Given the description of an element on the screen output the (x, y) to click on. 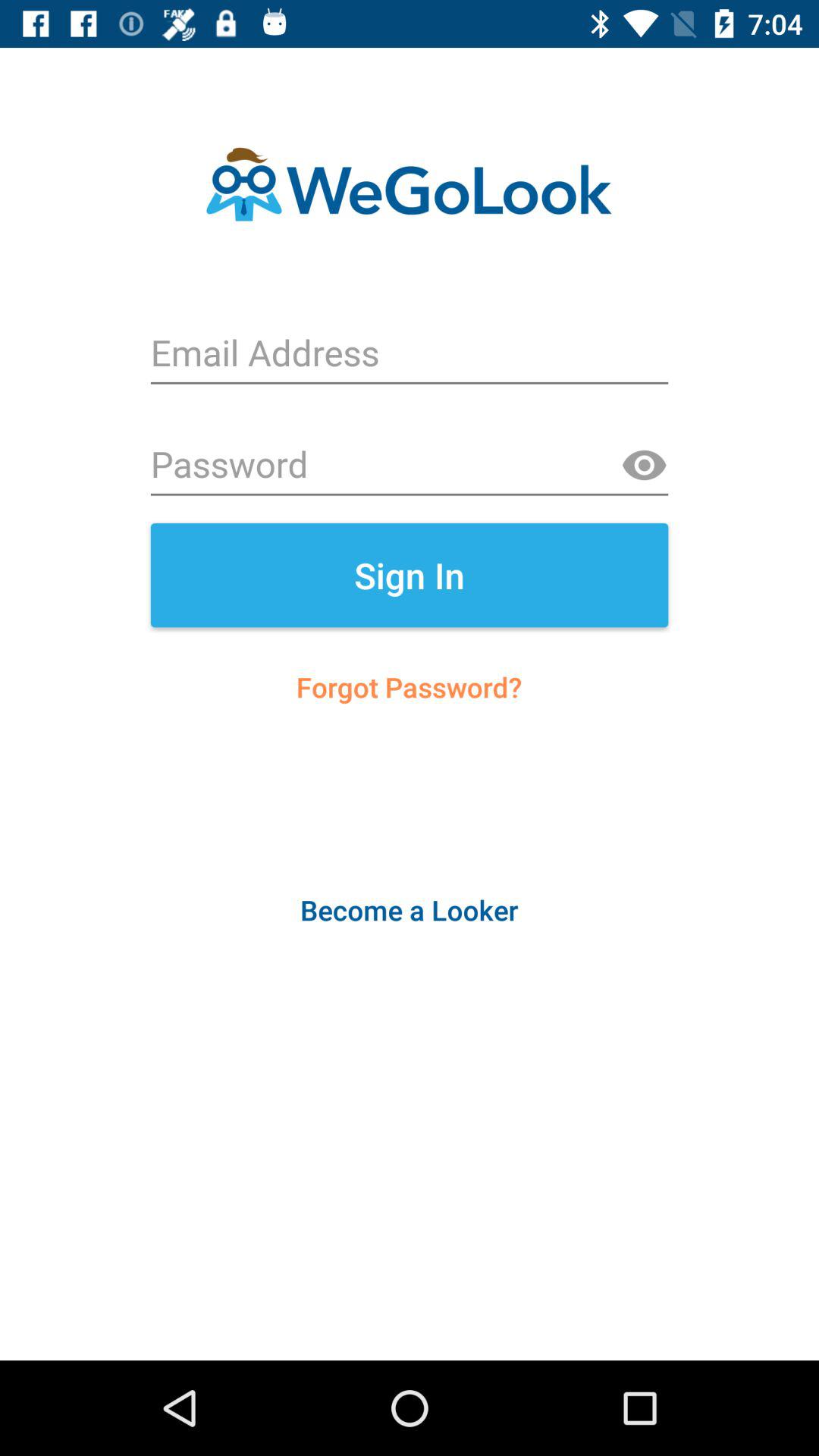
enter email address (409, 354)
